Given the description of an element on the screen output the (x, y) to click on. 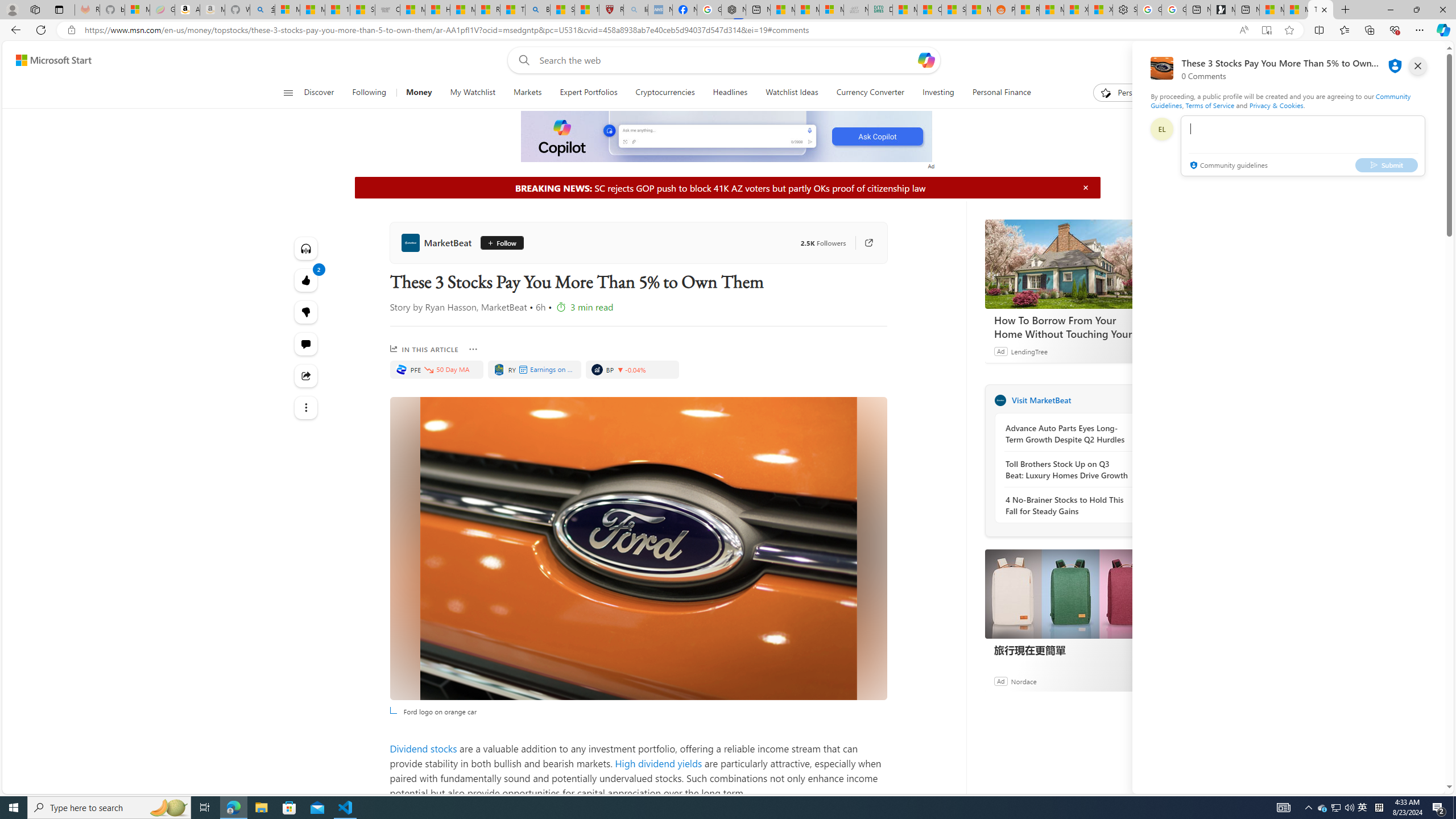
Profile Picture (1161, 128)
Advance Auto Parts Eyes Long-Term Growth Despite Q2 Hurdles (1066, 433)
Class: button-glyph (287, 92)
PFE, PFIZER INC.. Price is 28.79. Decreased by -0.83% (436, 369)
Personal Finance (1001, 92)
LendingTree (1029, 351)
Watchlist Ideas (791, 92)
Community Guidelines (1280, 100)
